Given the description of an element on the screen output the (x, y) to click on. 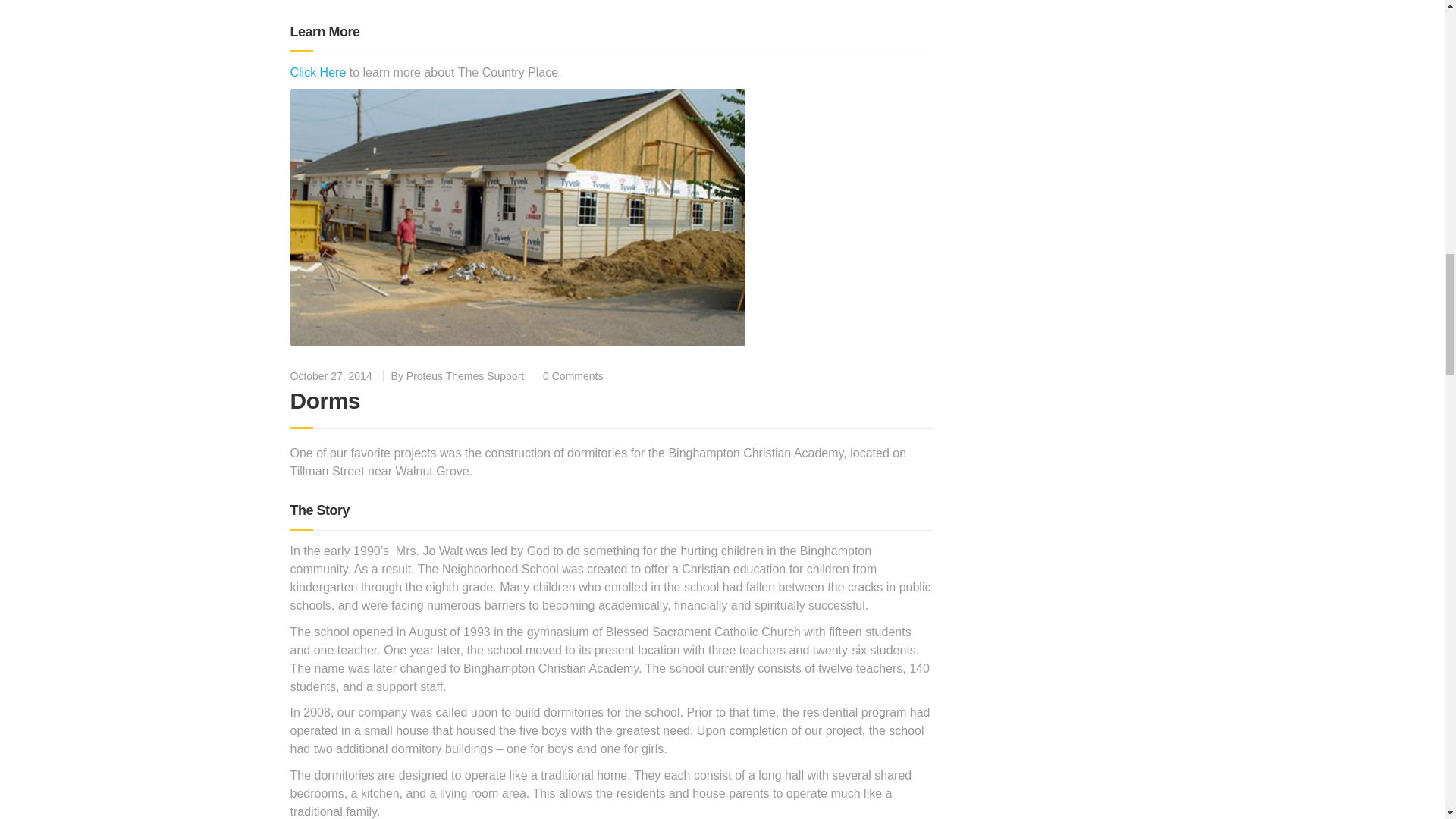
Dorms (324, 400)
Click Here (317, 72)
0 Comments (572, 376)
